Given the description of an element on the screen output the (x, y) to click on. 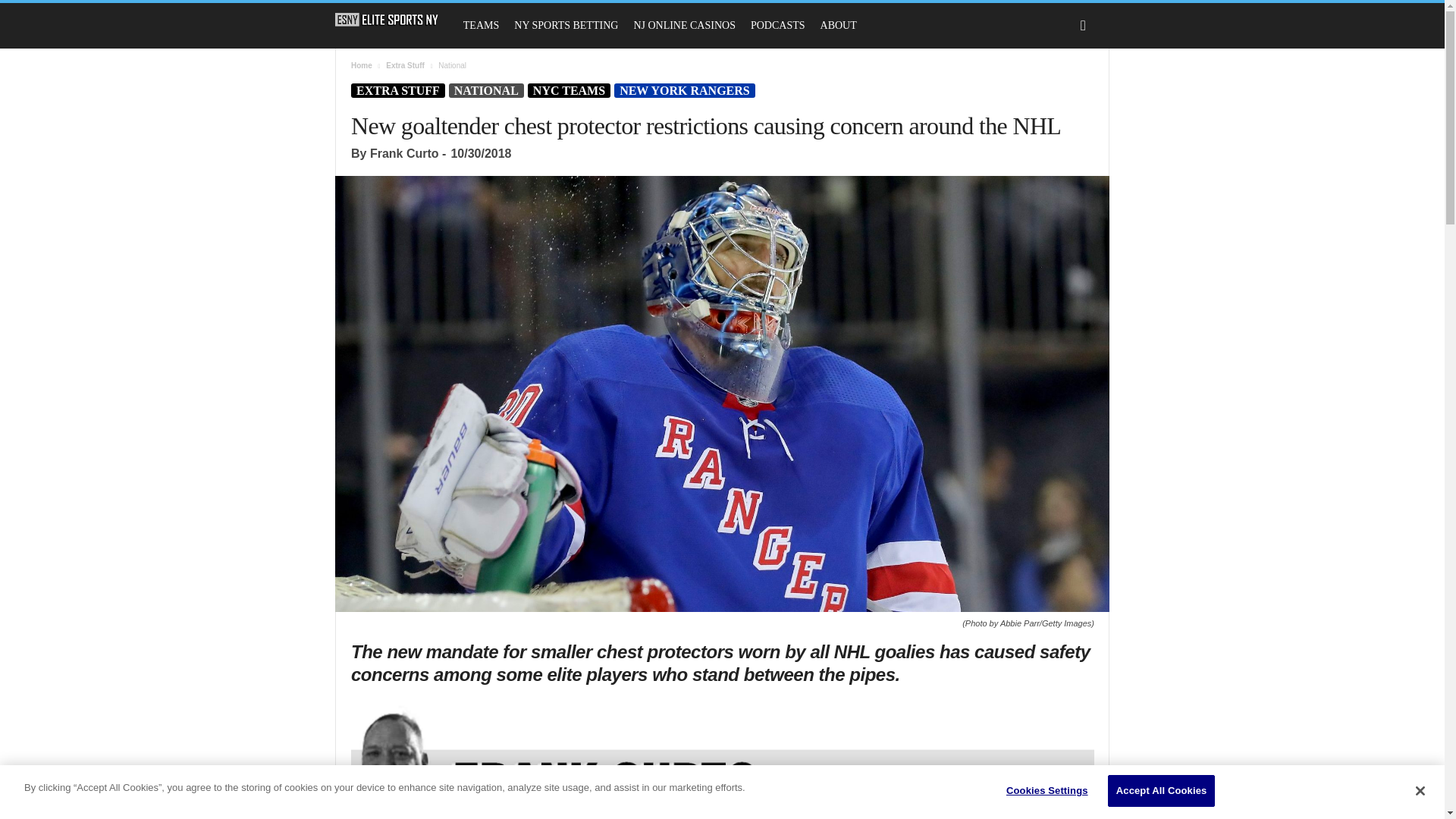
Elite Sports NY (386, 19)
TEAMS (480, 25)
View all posts in Extra Stuff (405, 65)
Elite Sports NY (394, 19)
